Given the description of an element on the screen output the (x, y) to click on. 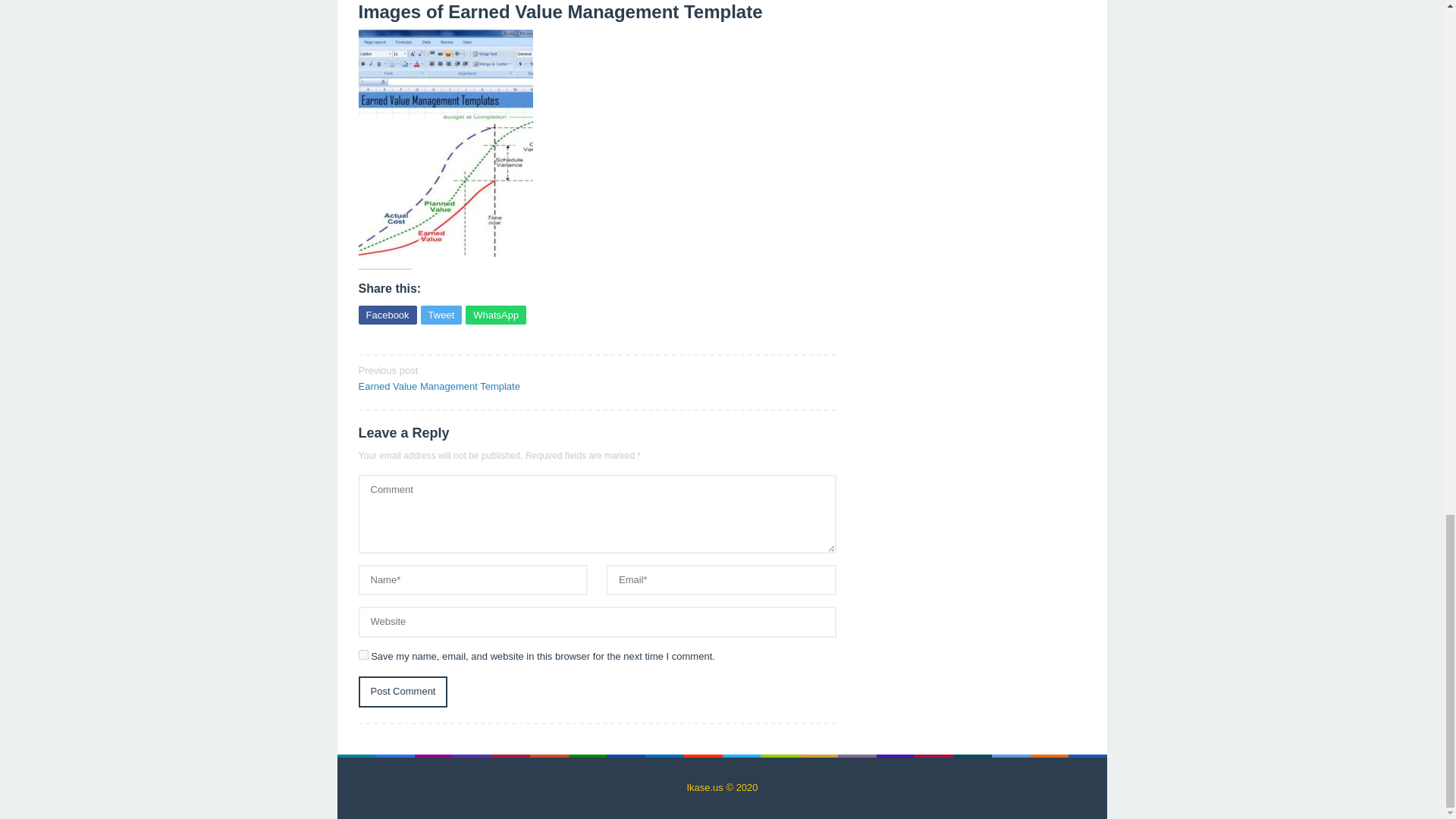
Post Comment (402, 691)
Tweet (441, 314)
Tweet this (441, 314)
WhatsApp (495, 314)
WhatsApp this (495, 314)
Share this (387, 314)
Facebook (387, 314)
Post Comment (472, 377)
yes (402, 691)
